Given the description of an element on the screen output the (x, y) to click on. 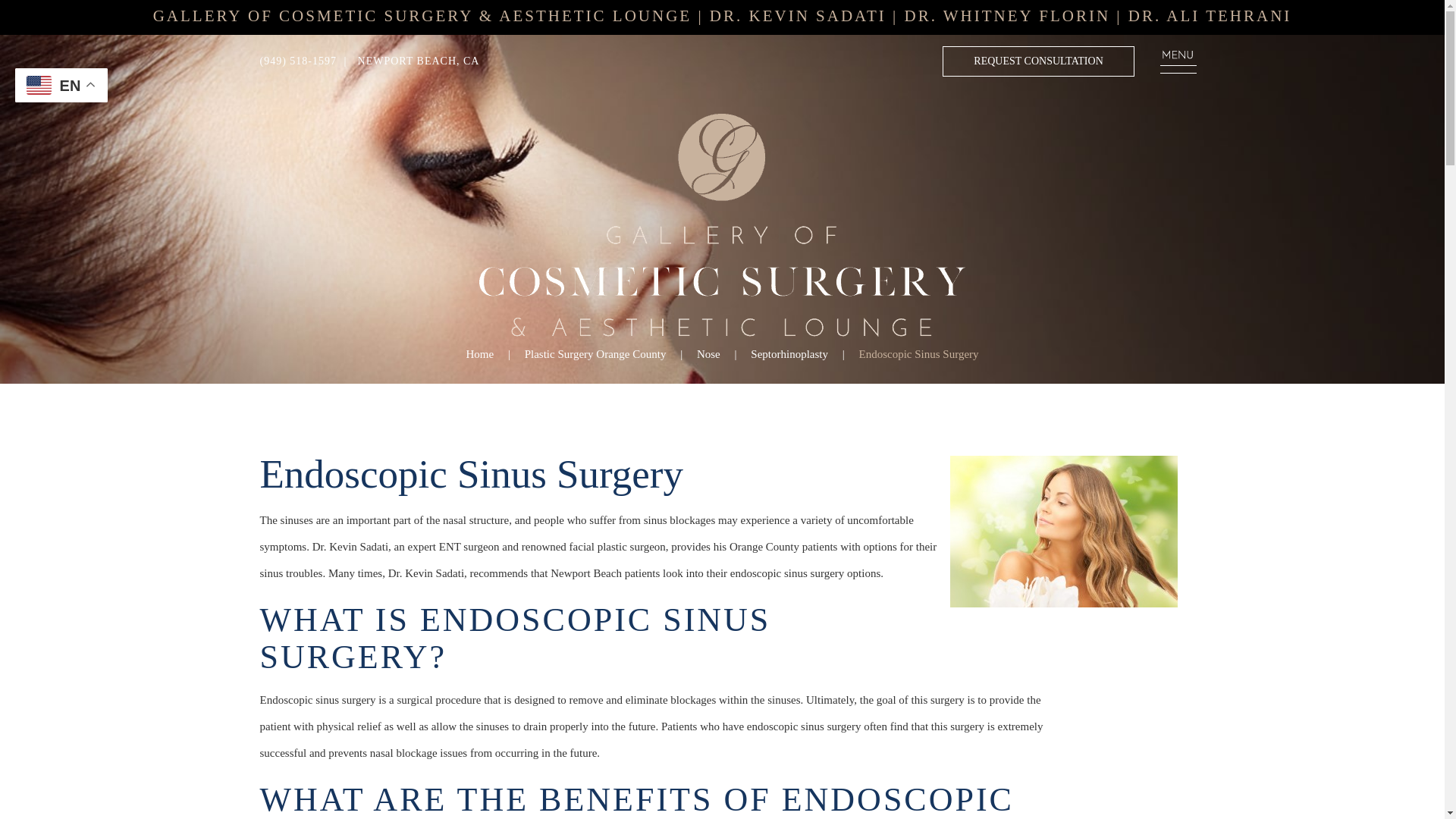
Orange County  (1062, 531)
DR. WHITNEY FLORIN (1006, 15)
DR. ALI TEHRANI (1210, 15)
NEWPORT BEACH, CA (416, 60)
DR. KEVIN SADATI (798, 15)
Search (21, 10)
REQUEST CONSULTATION (1038, 60)
